Given the description of an element on the screen output the (x, y) to click on. 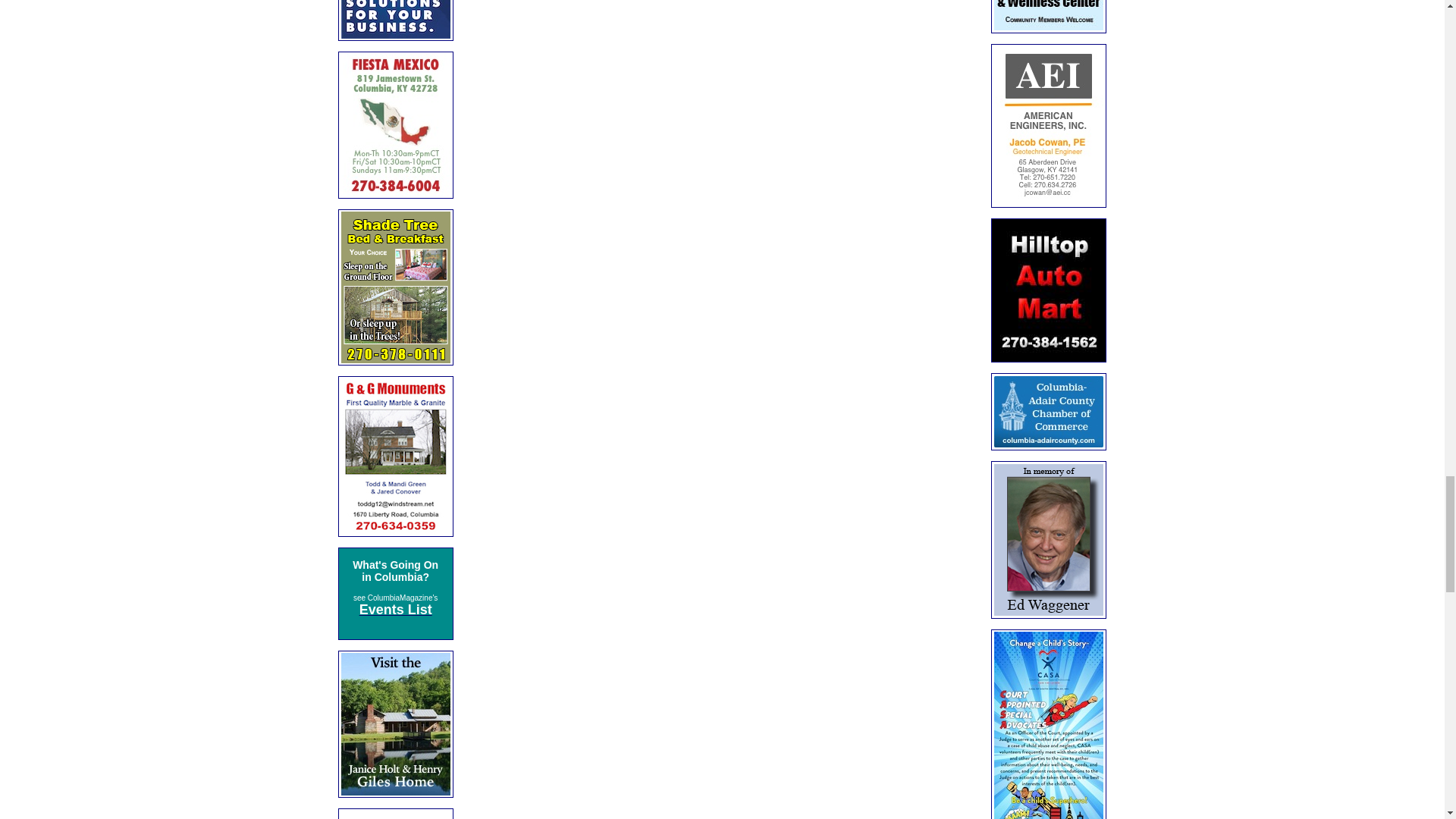
Events List (395, 611)
